Given the description of an element on the screen output the (x, y) to click on. 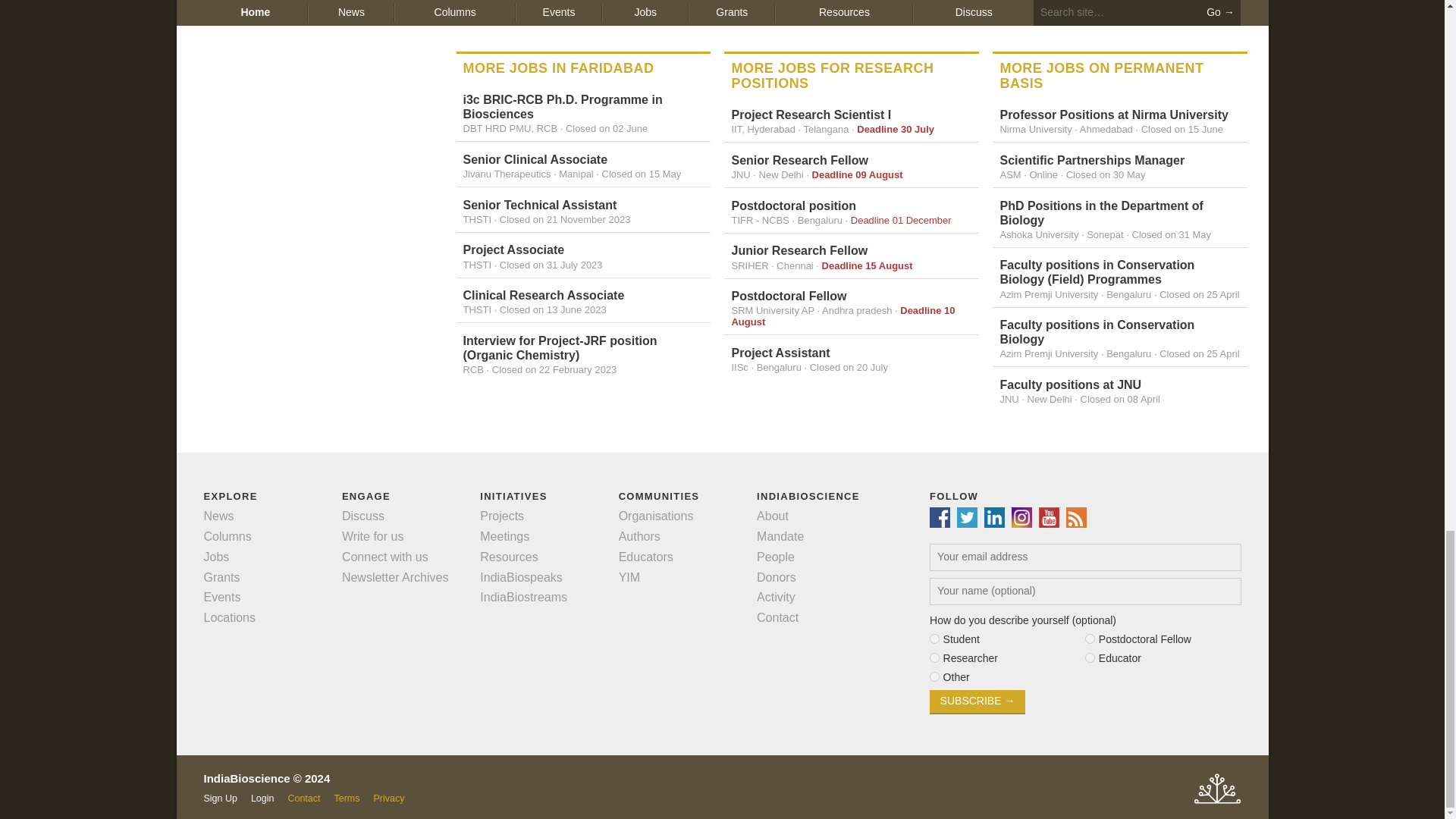
31 July 2023 (550, 265)
Educator (1089, 657)
13 June 2023 (553, 309)
21 November 2023 (564, 219)
2 June 2024 (606, 128)
Student (934, 638)
Researcher (934, 657)
Other (934, 676)
Postdoctoral Fellow (1089, 638)
15 May 2024 (641, 173)
